Given the description of an element on the screen output the (x, y) to click on. 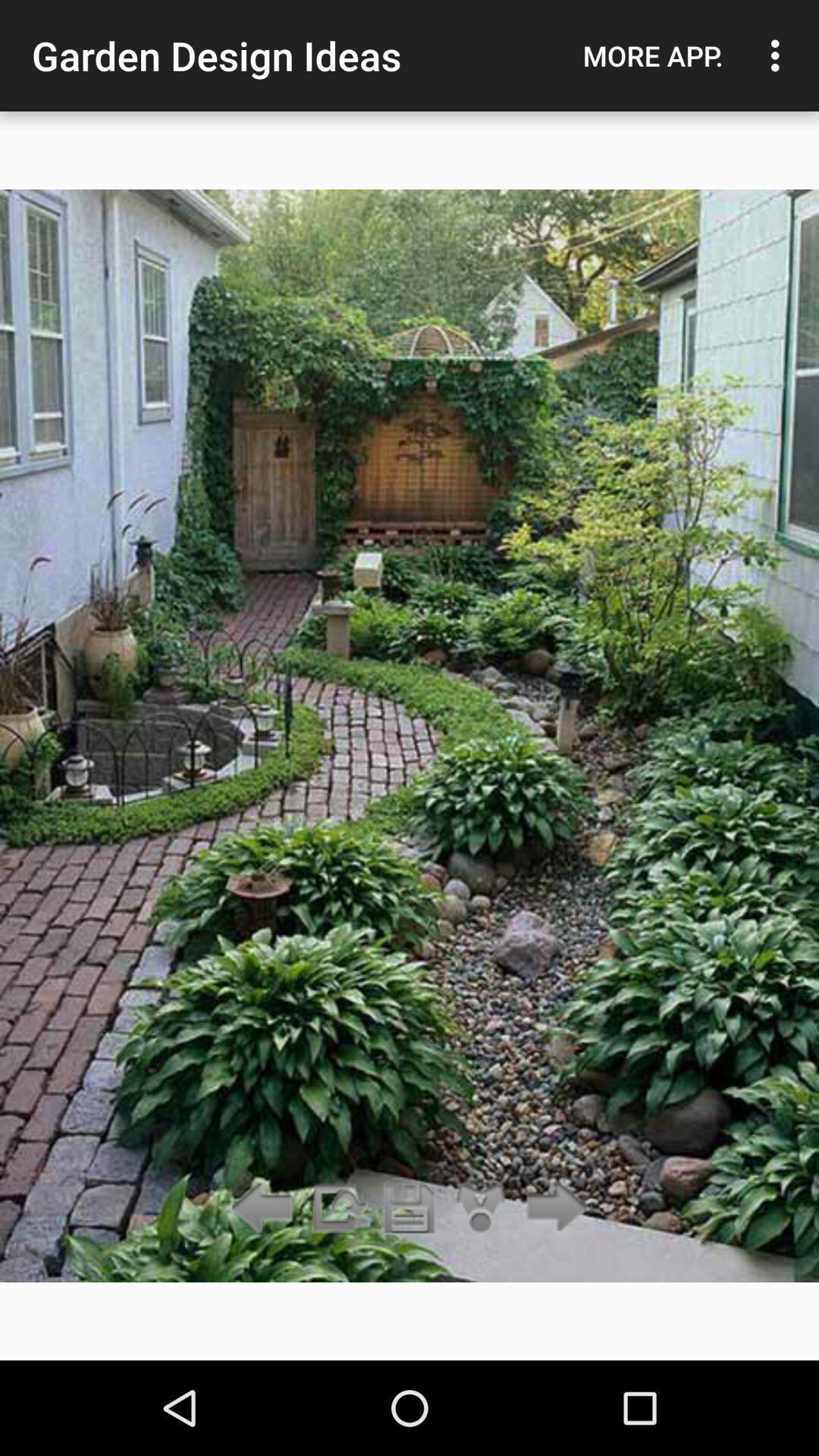
turn off the icon at the bottom right corner (552, 1209)
